Given the description of an element on the screen output the (x, y) to click on. 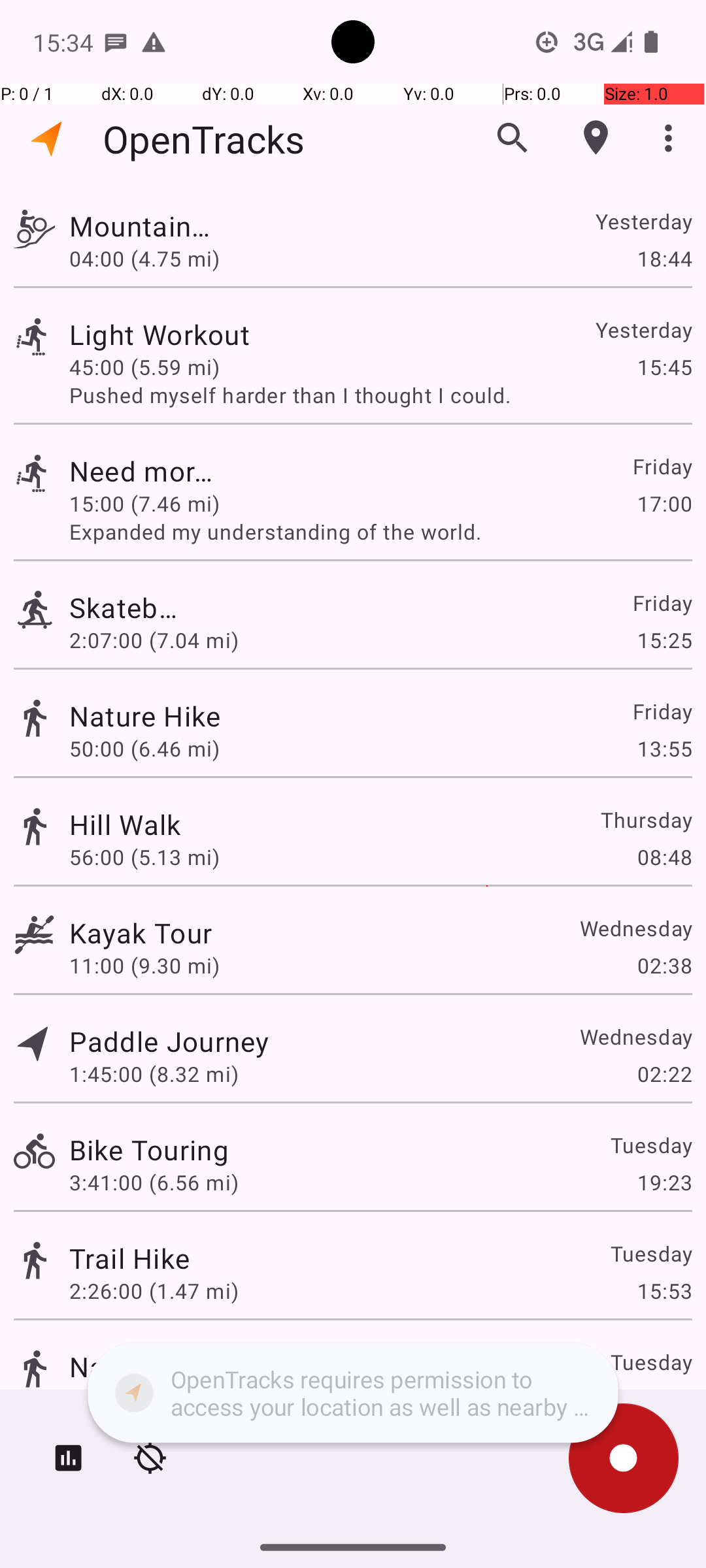
OpenTracks Element type: android.widget.TextView (203, 138)
Markers Element type: android.widget.Button (595, 137)
Record Element type: android.widget.ImageButton (623, 1458)
Track Element type: android.widget.ImageView (33, 227)
Mountain Biking Excursion Element type: android.widget.TextView (140, 225)
Yesterday Element type: android.widget.TextView (643, 221)
04:00 (4.75 mi) Element type: android.widget.TextView (144, 258)
18:44 Element type: android.widget.TextView (664, 258)
Light Workout Element type: android.widget.TextView (168, 333)
45:00 (5.59 mi) Element type: android.widget.TextView (153, 366)
15:45 Element type: android.widget.TextView (664, 366)
Pushed myself harder than I thought I could. Element type: android.widget.TextView (380, 394)
Need more strength and conditioning Element type: android.widget.TextView (148, 470)
Friday Element type: android.widget.TextView (661, 466)
15:00 (7.46 mi) Element type: android.widget.TextView (153, 503)
17:00 Element type: android.widget.TextView (664, 503)
Expanded my understanding of the world. Element type: android.widget.TextView (380, 531)
Skateboarding Excursion Element type: android.widget.TextView (129, 606)
2:07:00 (7.04 mi) Element type: android.widget.TextView (153, 639)
15:25 Element type: android.widget.TextView (664, 639)
Nature Hike Element type: android.widget.TextView (144, 715)
50:00 (6.46 mi) Element type: android.widget.TextView (153, 748)
13:55 Element type: android.widget.TextView (664, 748)
Hill Walk Element type: android.widget.TextView (124, 823)
Thursday Element type: android.widget.TextView (645, 819)
56:00 (5.13 mi) Element type: android.widget.TextView (144, 856)
08:48 Element type: android.widget.TextView (664, 856)
Kayak Tour Element type: android.widget.TextView (140, 932)
Wednesday Element type: android.widget.TextView (635, 928)
11:00 (9.30 mi) Element type: android.widget.TextView (144, 965)
02:38 Element type: android.widget.TextView (664, 965)
Paddle Journey Element type: android.widget.TextView (168, 1040)
1:45:00 (8.32 mi) Element type: android.widget.TextView (153, 1073)
02:22 Element type: android.widget.TextView (664, 1073)
Bike Touring Element type: android.widget.TextView (148, 1149)
Tuesday Element type: android.widget.TextView (650, 1144)
3:41:00 (6.56 mi) Element type: android.widget.TextView (153, 1182)
19:23 Element type: android.widget.TextView (664, 1182)
Trail Hike Element type: android.widget.TextView (129, 1257)
2:26:00 (1.47 mi) Element type: android.widget.TextView (153, 1290)
15:53 Element type: android.widget.TextView (664, 1290)
4:30:00 (1.45 mi) Element type: android.widget.TextView (153, 1399)
08:43 Element type: android.widget.TextView (664, 1399)
